Given the description of an element on the screen output the (x, y) to click on. 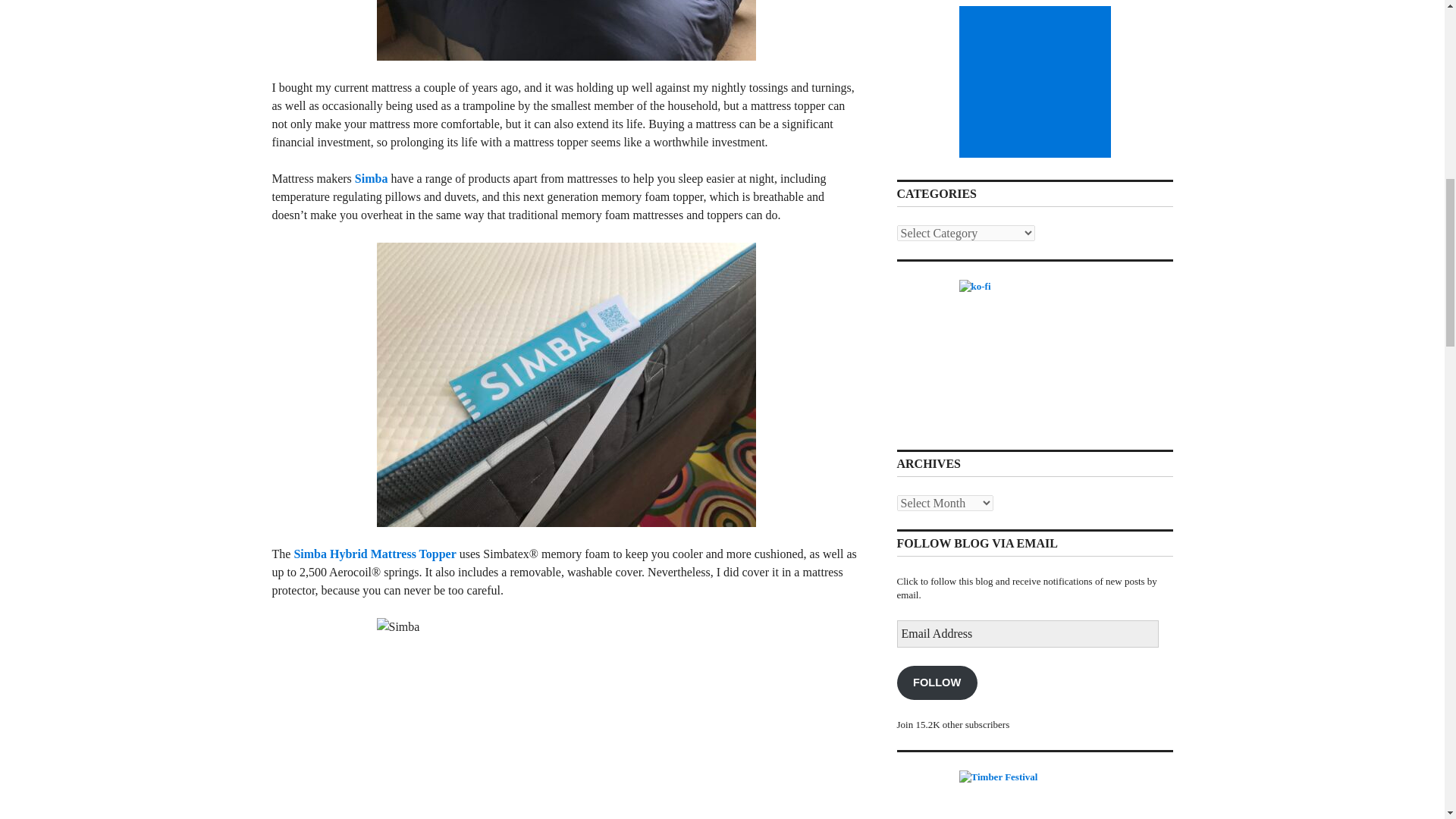
FOLLOW (936, 682)
Simba Hybrid Mattress Topper (374, 553)
Simba (371, 178)
